Given the description of an element on the screen output the (x, y) to click on. 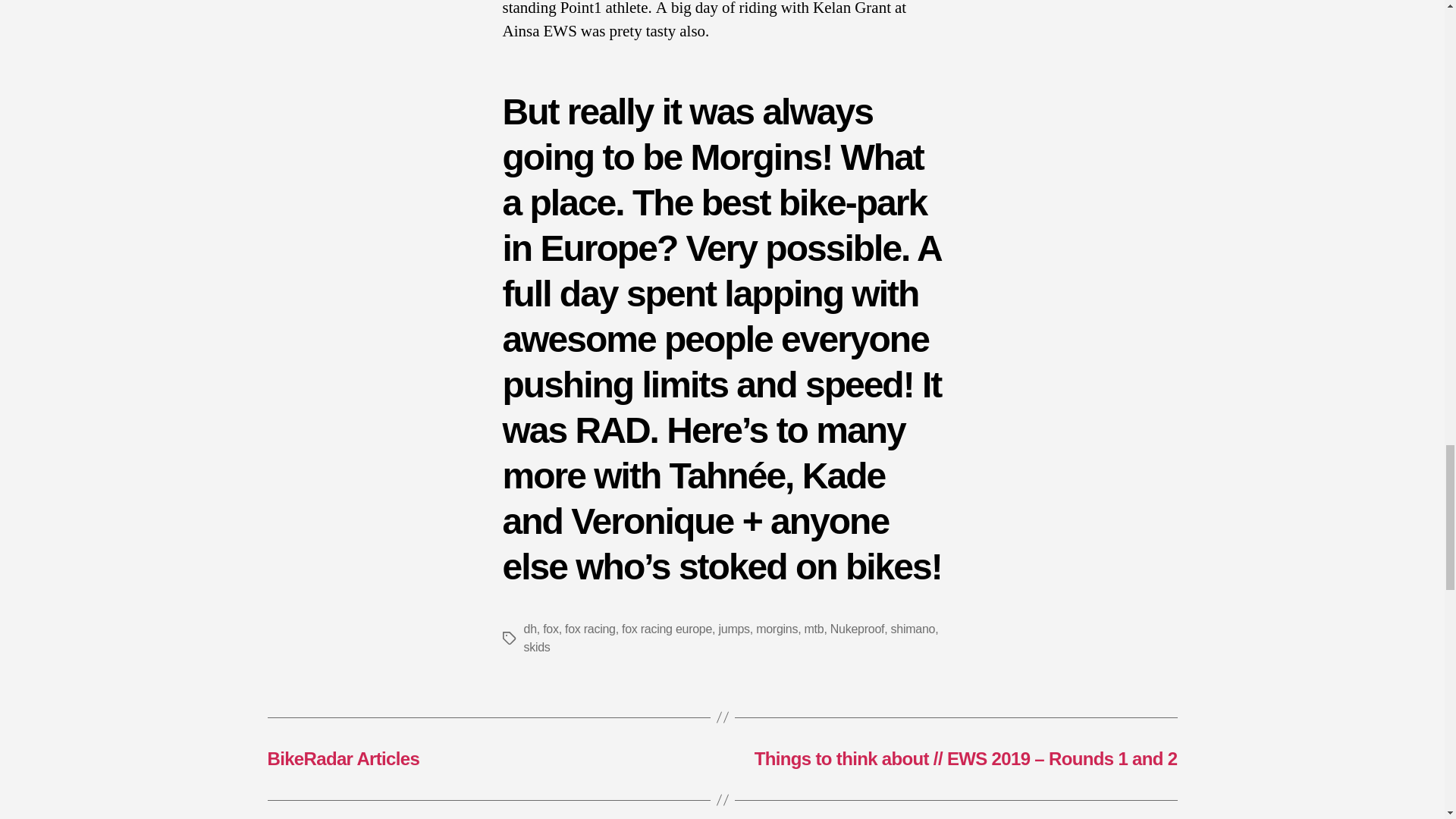
dh (528, 628)
fox racing europe (666, 628)
skids (536, 646)
fox racing (589, 628)
fox (551, 628)
morgins (776, 628)
shimano (913, 628)
Nukeproof (856, 628)
jumps (733, 628)
mtb (814, 628)
